Given the description of an element on the screen output the (x, y) to click on. 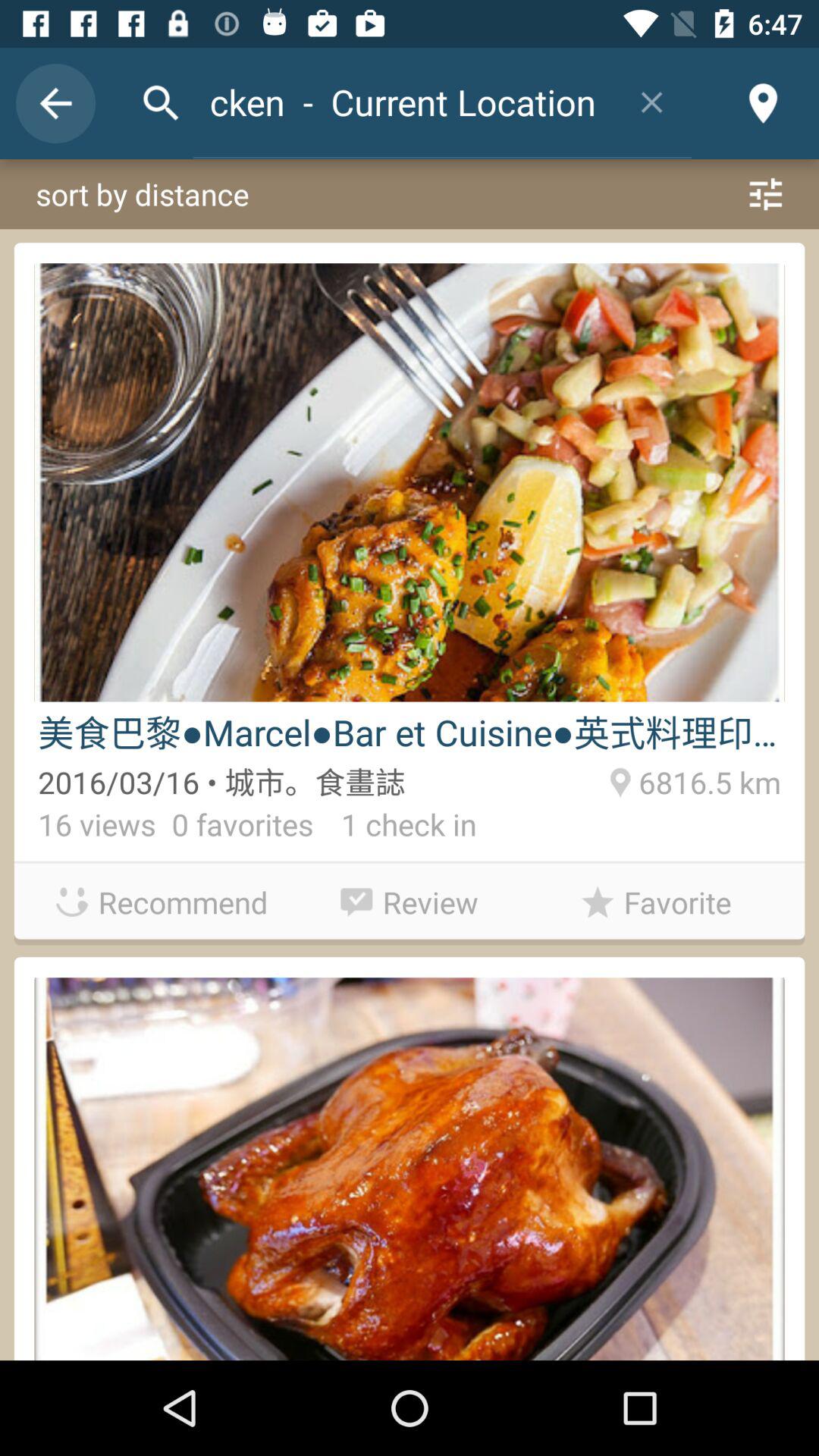
press the icon above sort by distance item (763, 103)
